Given the description of an element on the screen output the (x, y) to click on. 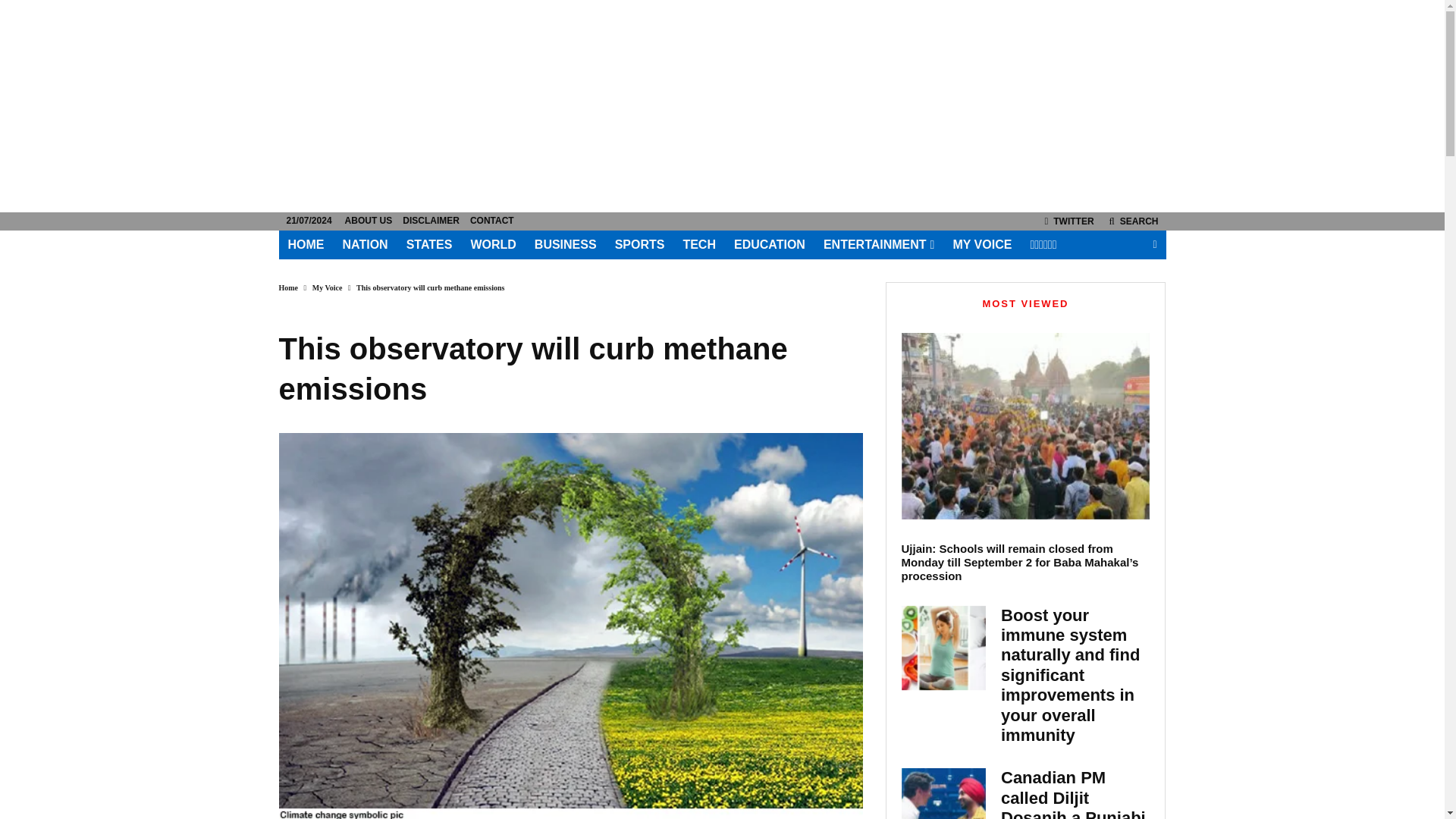
boost-your-immune-system (943, 648)
CONTACT (491, 221)
TWITTER (1069, 220)
ujjan (1025, 425)
TECH (698, 245)
ABOUT US (368, 221)
My Voice (327, 287)
EDUCATION (769, 245)
SEARCH (1134, 220)
HOME (306, 245)
SPORTS (639, 245)
WORLD (492, 245)
BUSINESS (565, 245)
MY VOICE (981, 245)
Home (288, 287)
